Given the description of an element on the screen output the (x, y) to click on. 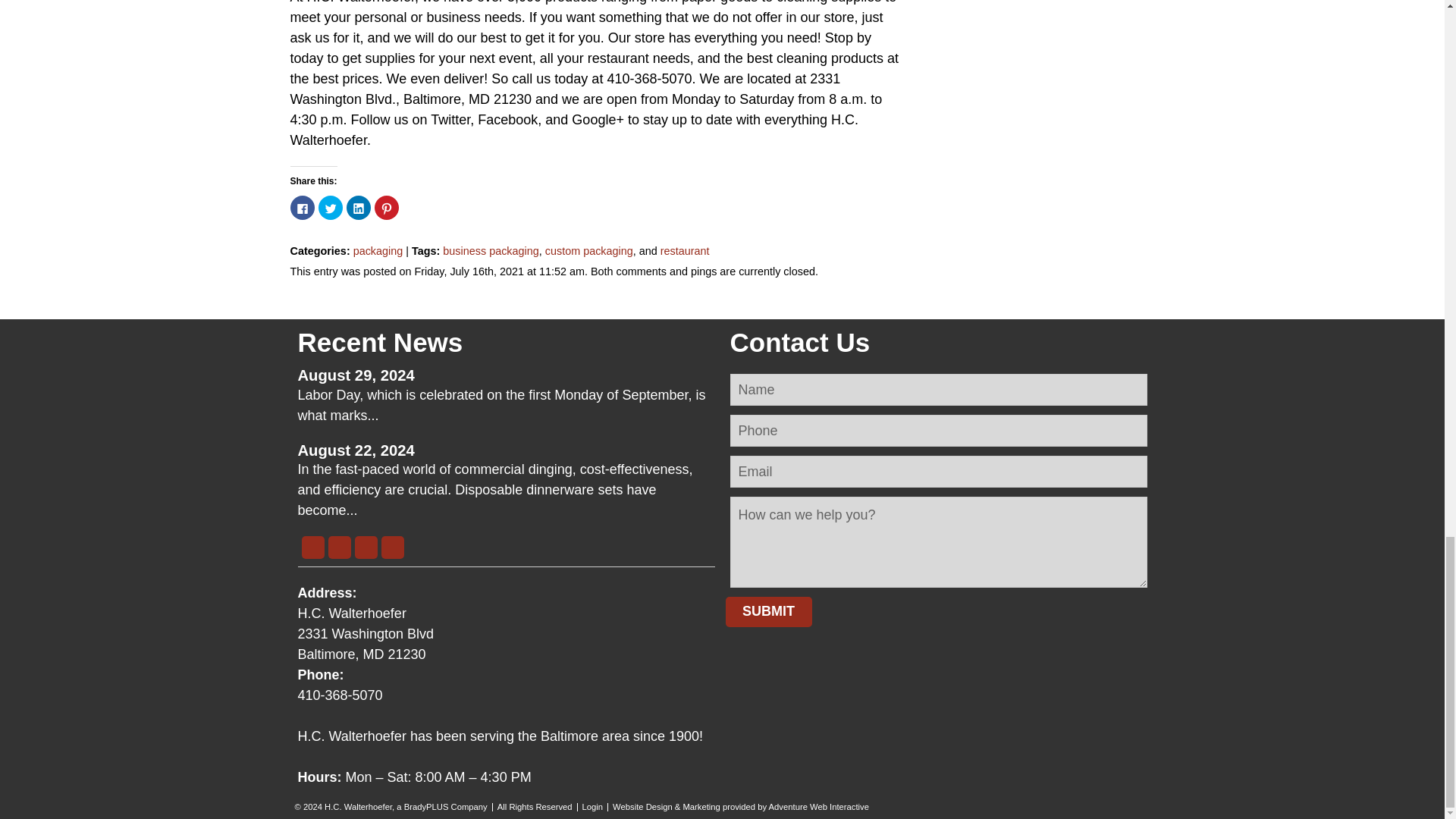
Click to share on LinkedIn (357, 207)
packaging (378, 250)
Click to share on Pinterest (386, 207)
custom packaging (588, 250)
Click to share on Twitter (330, 207)
Click to share on Facebook (301, 207)
Submit (767, 612)
business packaging (490, 250)
restaurant (685, 250)
